Given the description of an element on the screen output the (x, y) to click on. 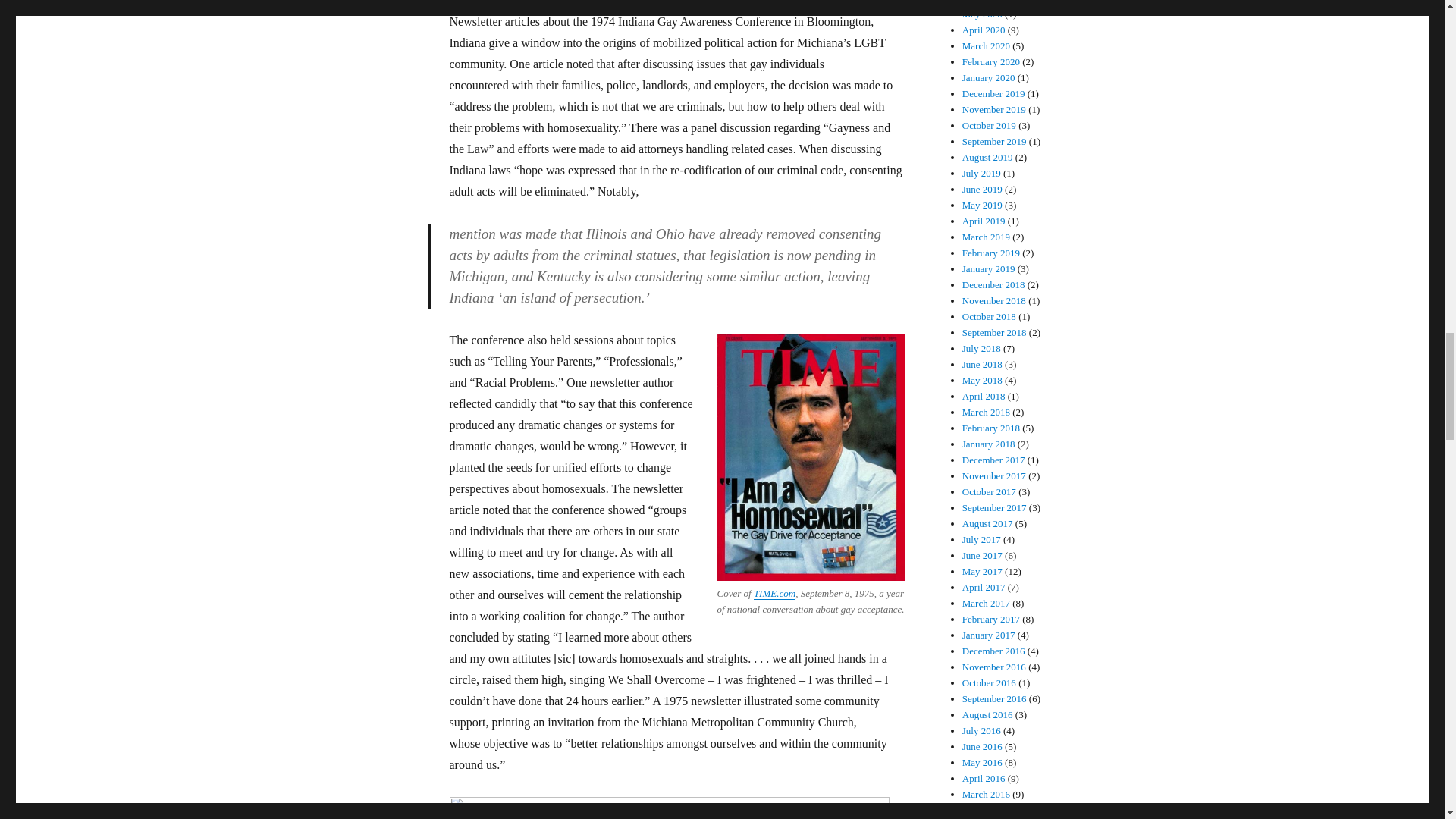
TIME.com (774, 593)
